Given the description of an element on the screen output the (x, y) to click on. 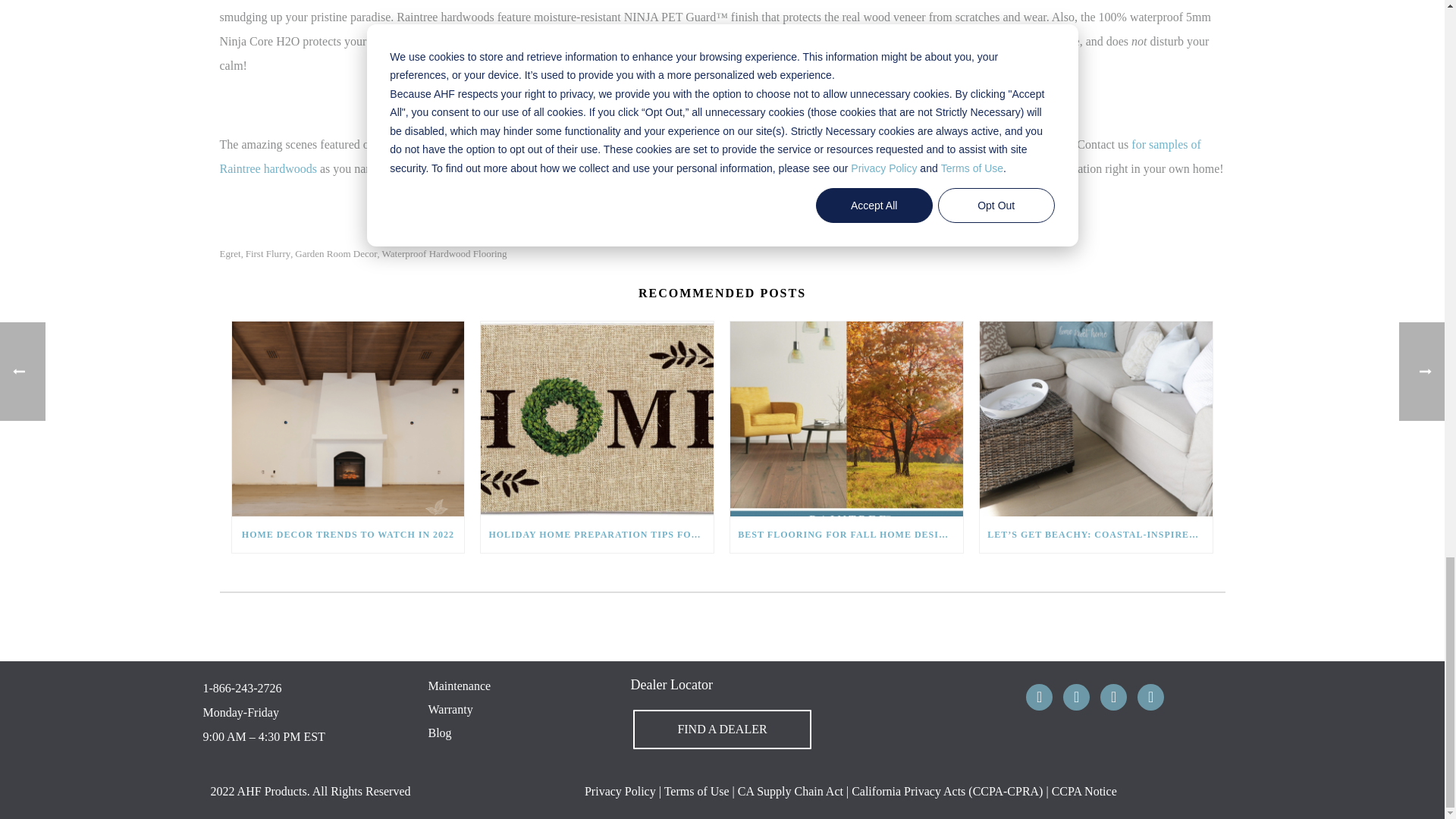
Best Flooring for Fall Home Design Trends (846, 418)
HOME DECOR TRENDS TO WATCH IN 2022 (347, 418)
